Given the description of an element on the screen output the (x, y) to click on. 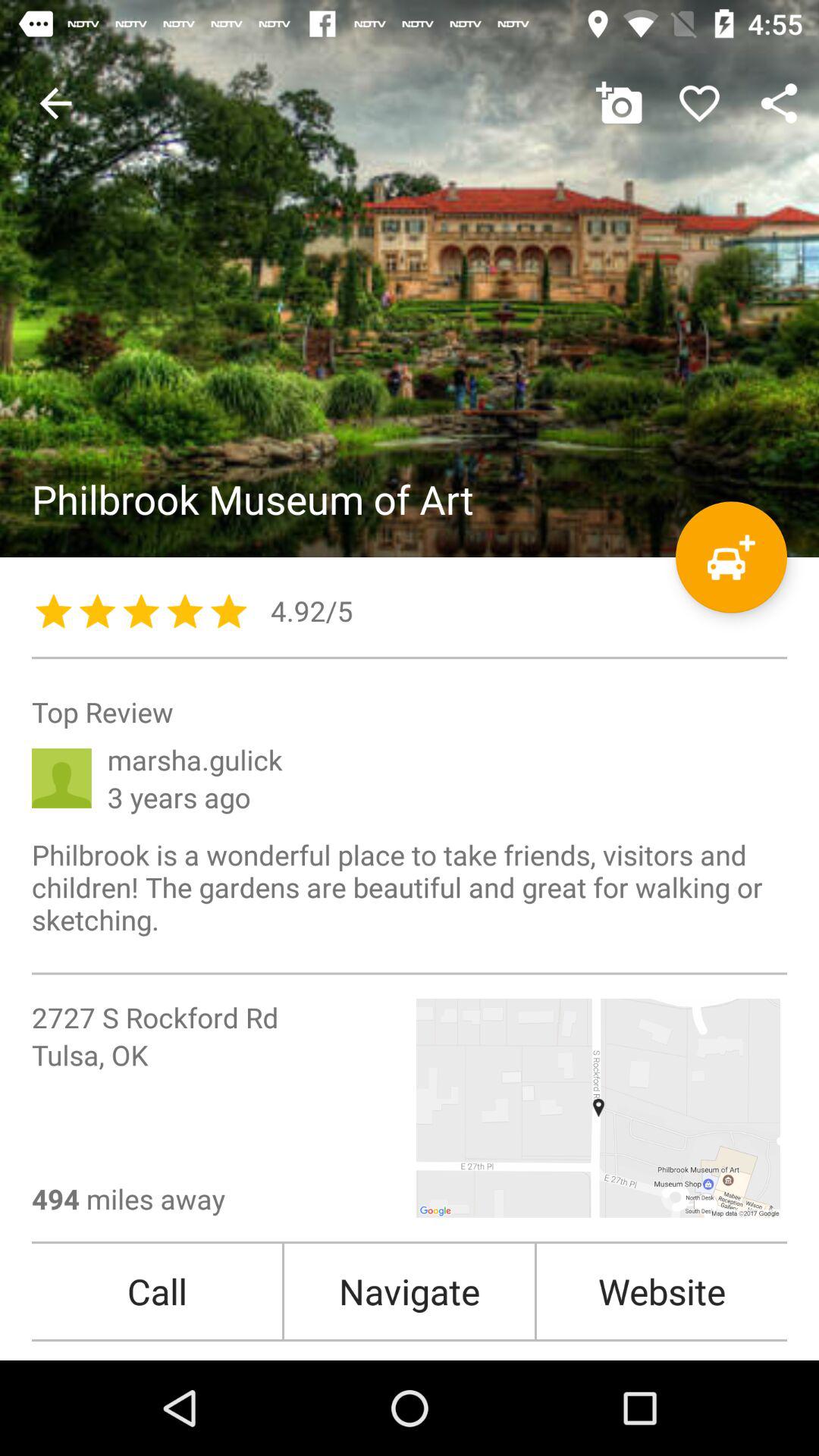
see pictures (409, 278)
